Given the description of an element on the screen output the (x, y) to click on. 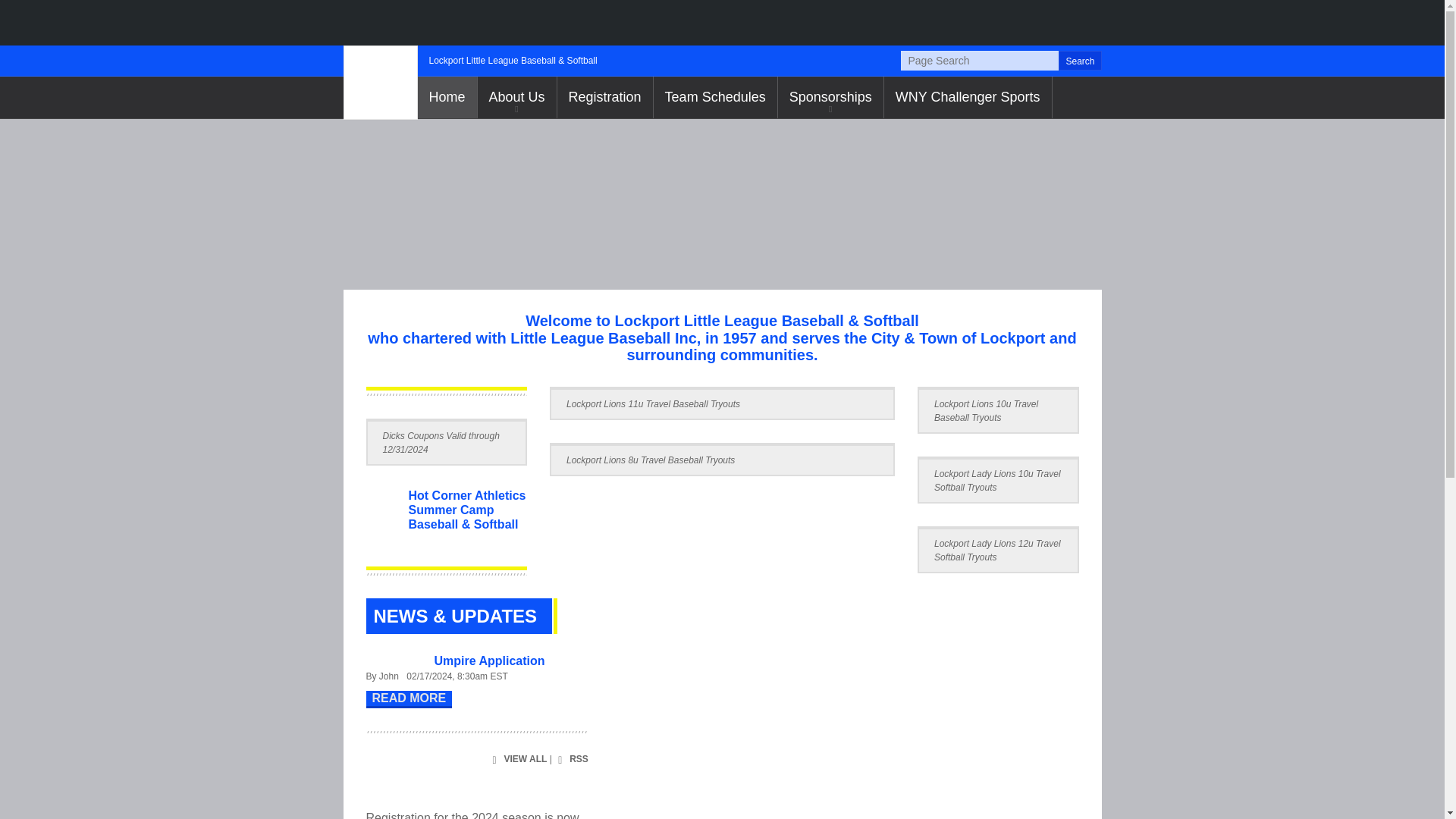
click to go to 'Sponsorships' (830, 96)
View All (517, 759)
About Us (516, 96)
Umpire Application (488, 660)
READ MORE (408, 699)
Sponsorships (830, 96)
click to go to 'Home' (446, 96)
click to go to 'Registration' (604, 96)
click to go to 'Team Schedules' (715, 96)
WNY Challenger Sports (967, 96)
Registration (604, 96)
WNY Challenger Sports (967, 96)
Subscribe to RSS Feed (571, 759)
click to go to 'About Us' (516, 96)
VIEW ALL (517, 759)
